Given the description of an element on the screen output the (x, y) to click on. 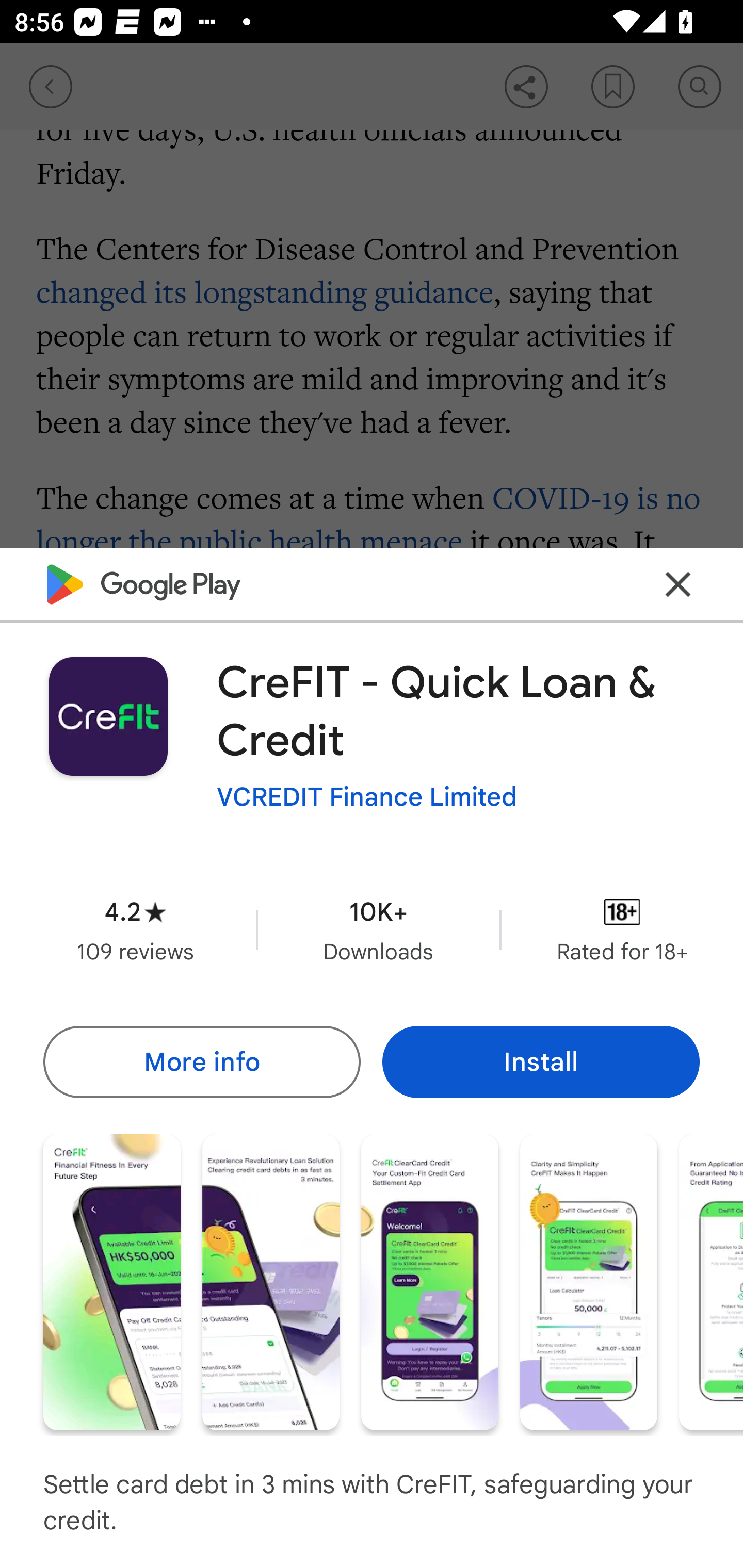
Close (677, 584)
VCREDIT Finance Limited (366, 796)
More info (201, 1061)
Install (540, 1061)
Screenshot "1" of "6" (111, 1281)
Screenshot "2" of "6" (270, 1281)
Screenshot "3" of "6" (429, 1281)
Screenshot "4" of "6" (588, 1281)
